Given the description of an element on the screen output the (x, y) to click on. 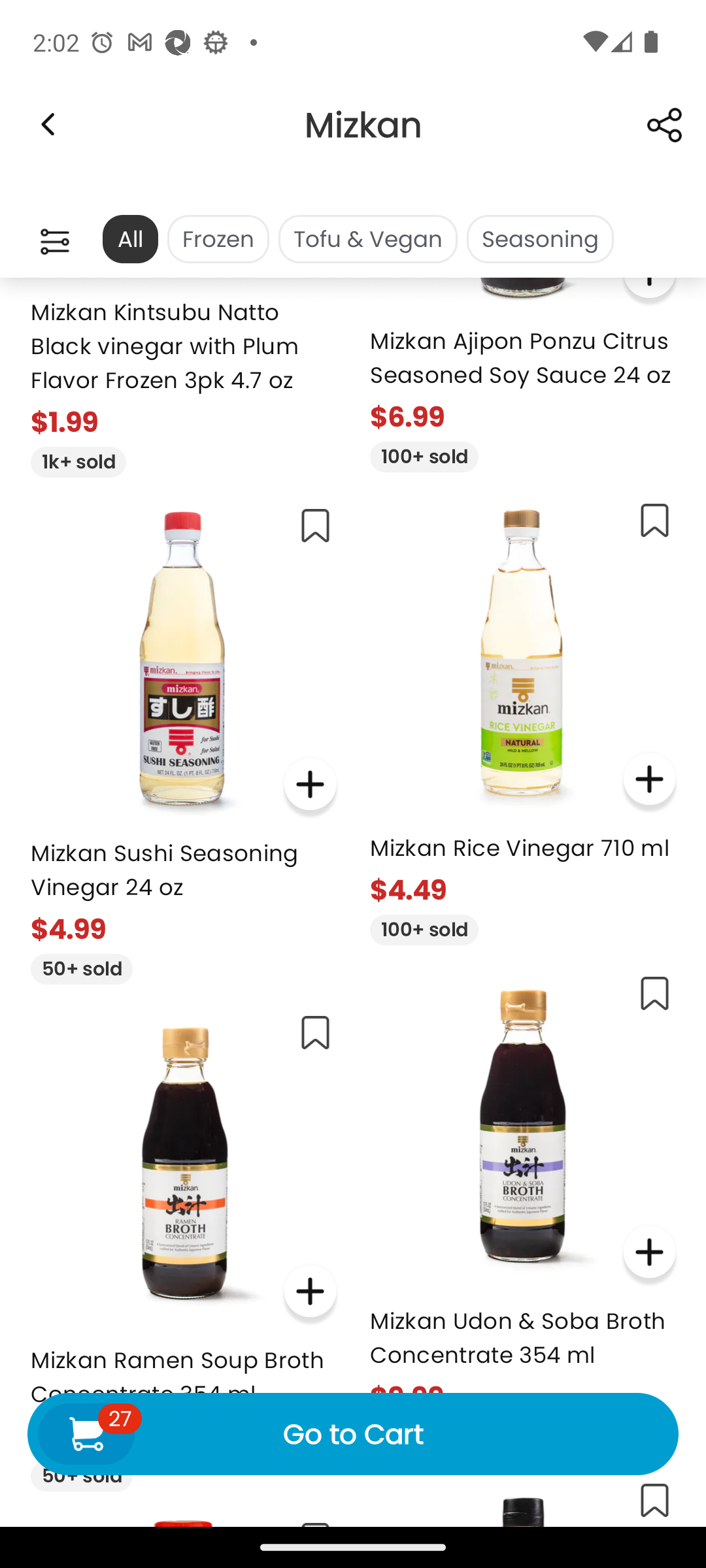
All (130, 238)
Frozen (217, 238)
Tofu & Vegan (367, 238)
Seasoning (539, 238)
Mizkan Rice Vinegar 710 ml $4.49 100+ sold (522, 715)
27 Go to Cart (352, 1433)
